Given the description of an element on the screen output the (x, y) to click on. 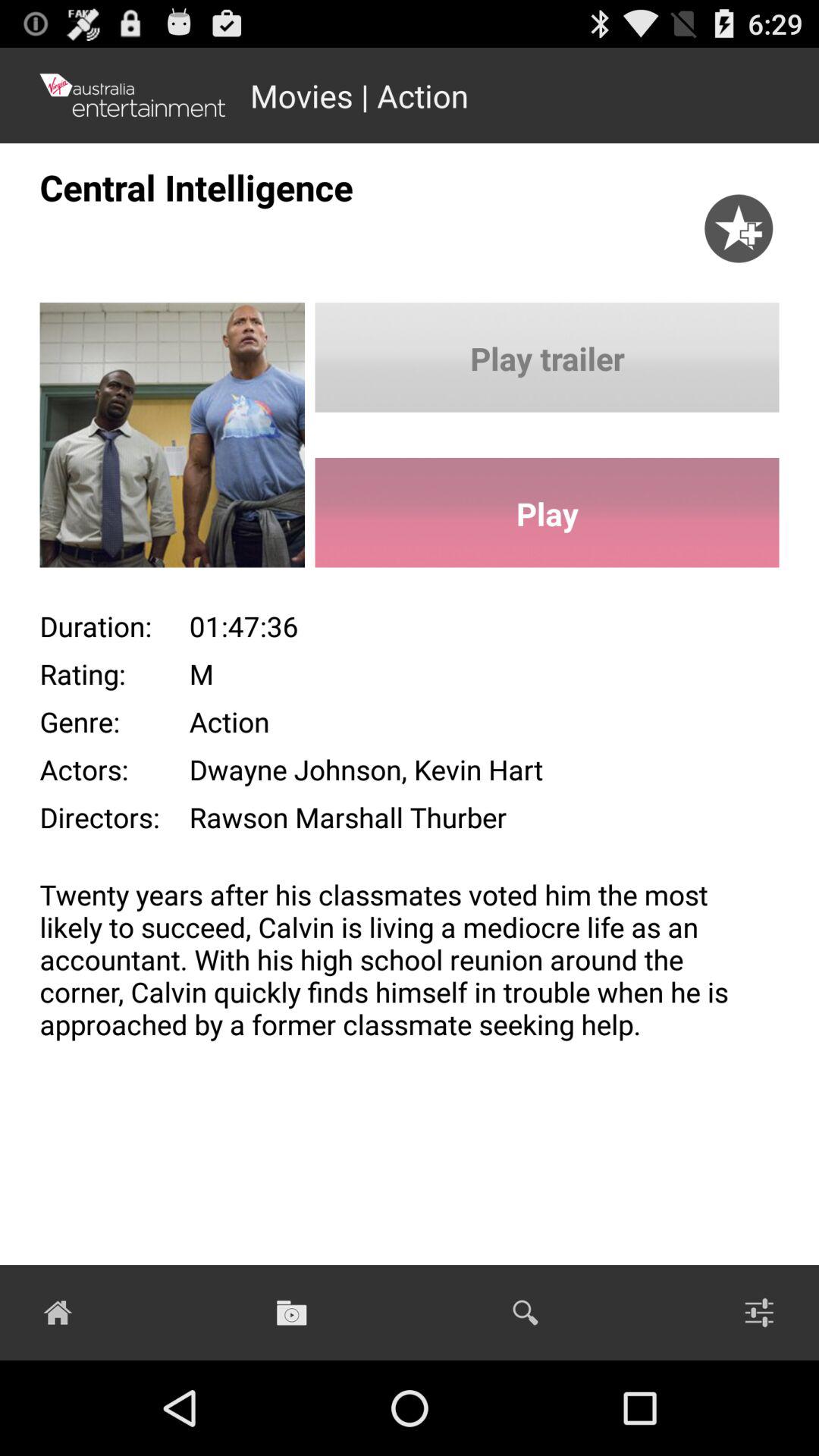
scroll to the play trailer button (547, 357)
